Given the description of an element on the screen output the (x, y) to click on. 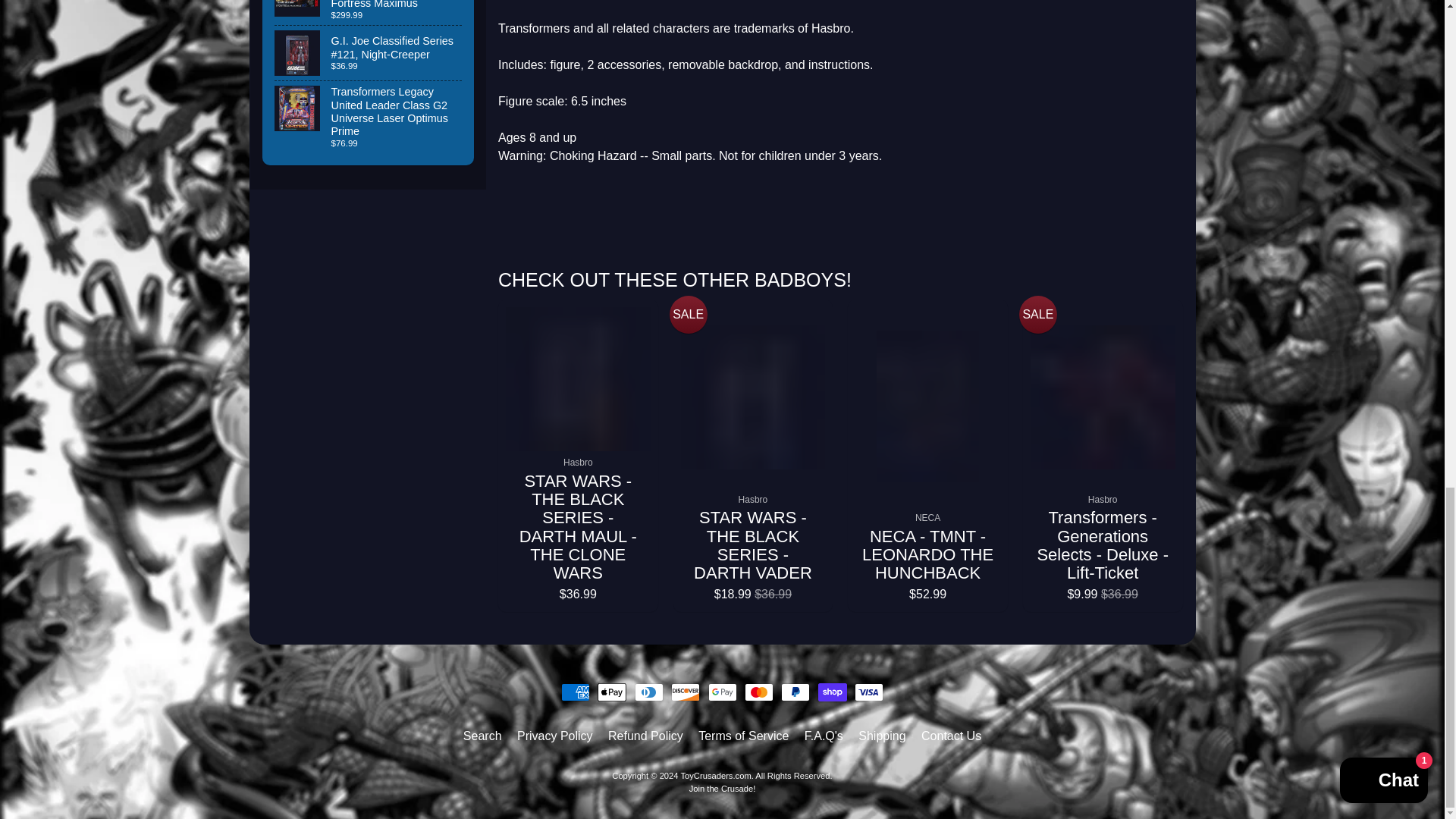
American Express (574, 692)
Mastercard (758, 692)
Apple Pay (611, 692)
PayPal (794, 692)
Visa (868, 692)
Google Pay (721, 692)
Discover (685, 692)
Shop Pay (832, 692)
Diners Club (648, 692)
